Given the description of an element on the screen output the (x, y) to click on. 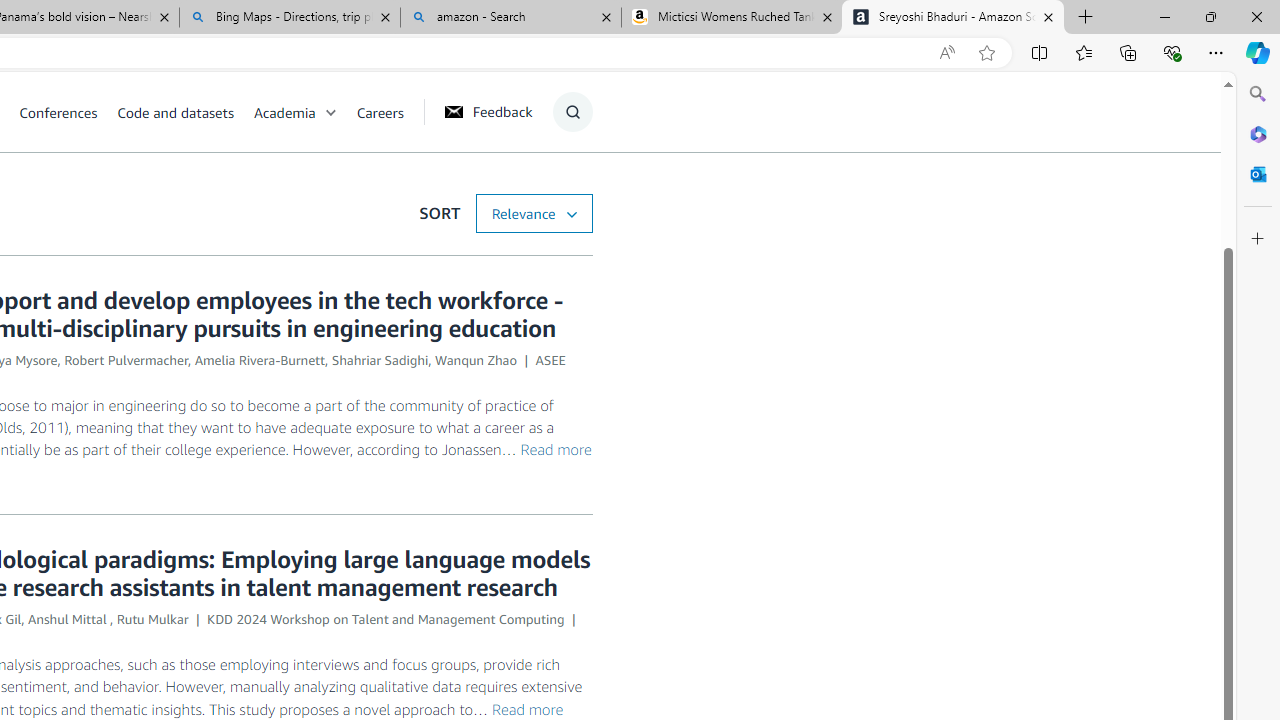
amazon - Search (510, 17)
Submit Search (565, 191)
Feedback (488, 111)
Careers (389, 111)
Robert Pulvermacher (126, 360)
Show Search Form (571, 111)
Code and datasets (175, 111)
Class: icon-magnify (571, 111)
Conferences (58, 111)
